Given the description of an element on the screen output the (x, y) to click on. 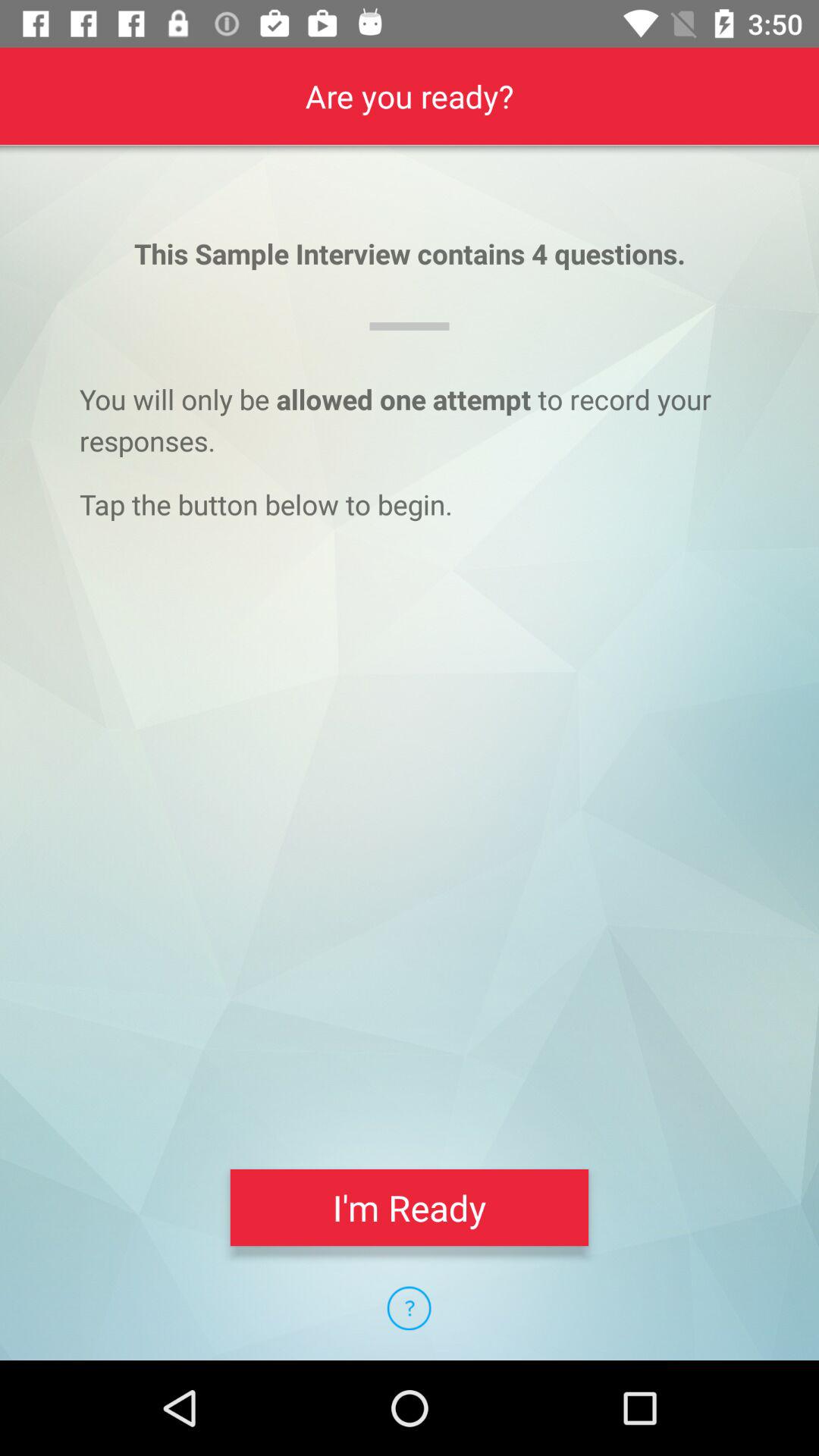
turn on icon below the tap the button (409, 1207)
